Given the description of an element on the screen output the (x, y) to click on. 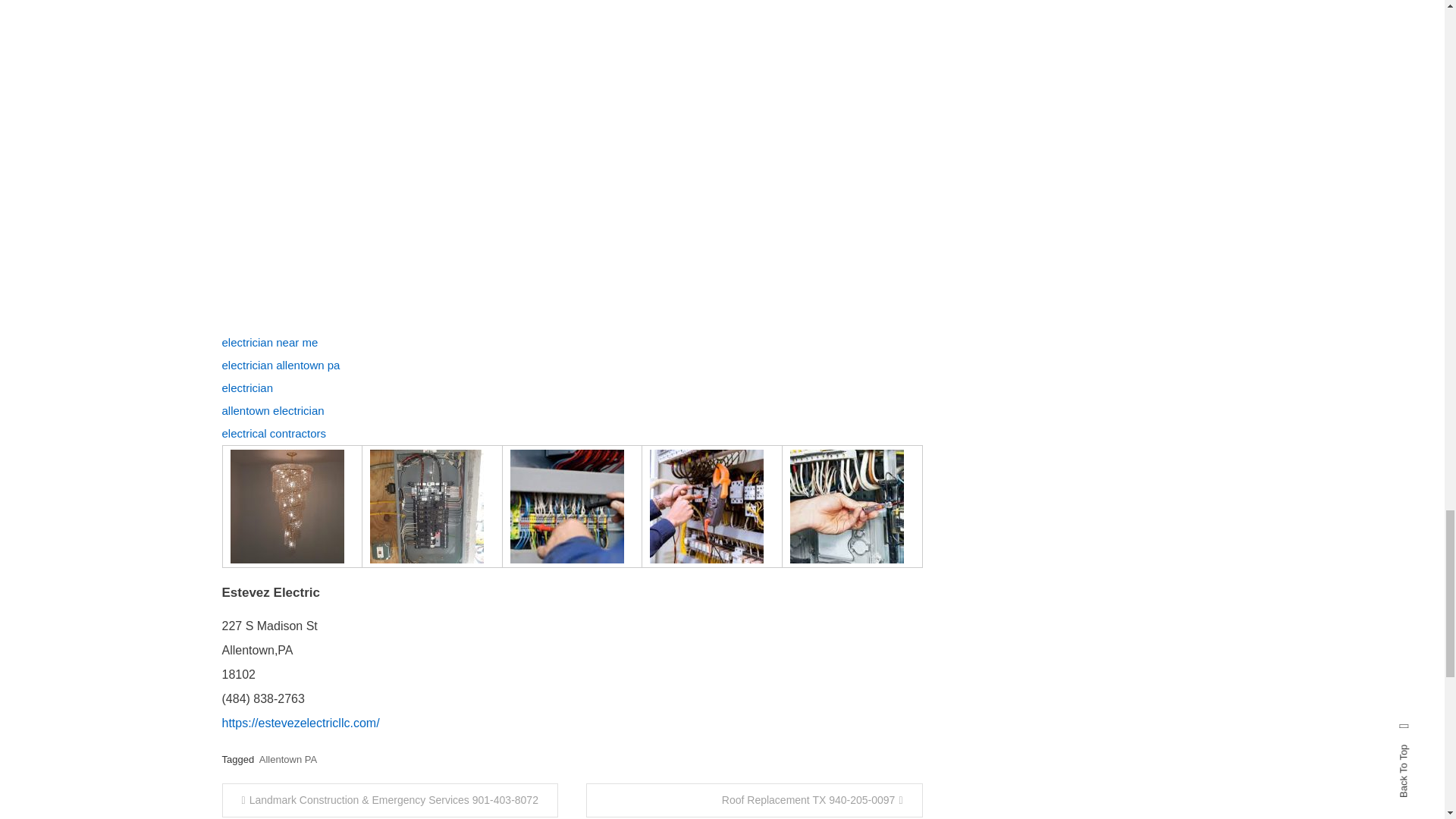
Electrician Allentown - 484-838-2763 (847, 506)
Electrician Allentown - 484-838-2763 (567, 506)
Electrician Allentown - 484-838-2763 (286, 506)
Electrician Allentown - 484-838-2763 (705, 506)
Electrician Allentown - 484-838-2763 (426, 506)
